Given the description of an element on the screen output the (x, y) to click on. 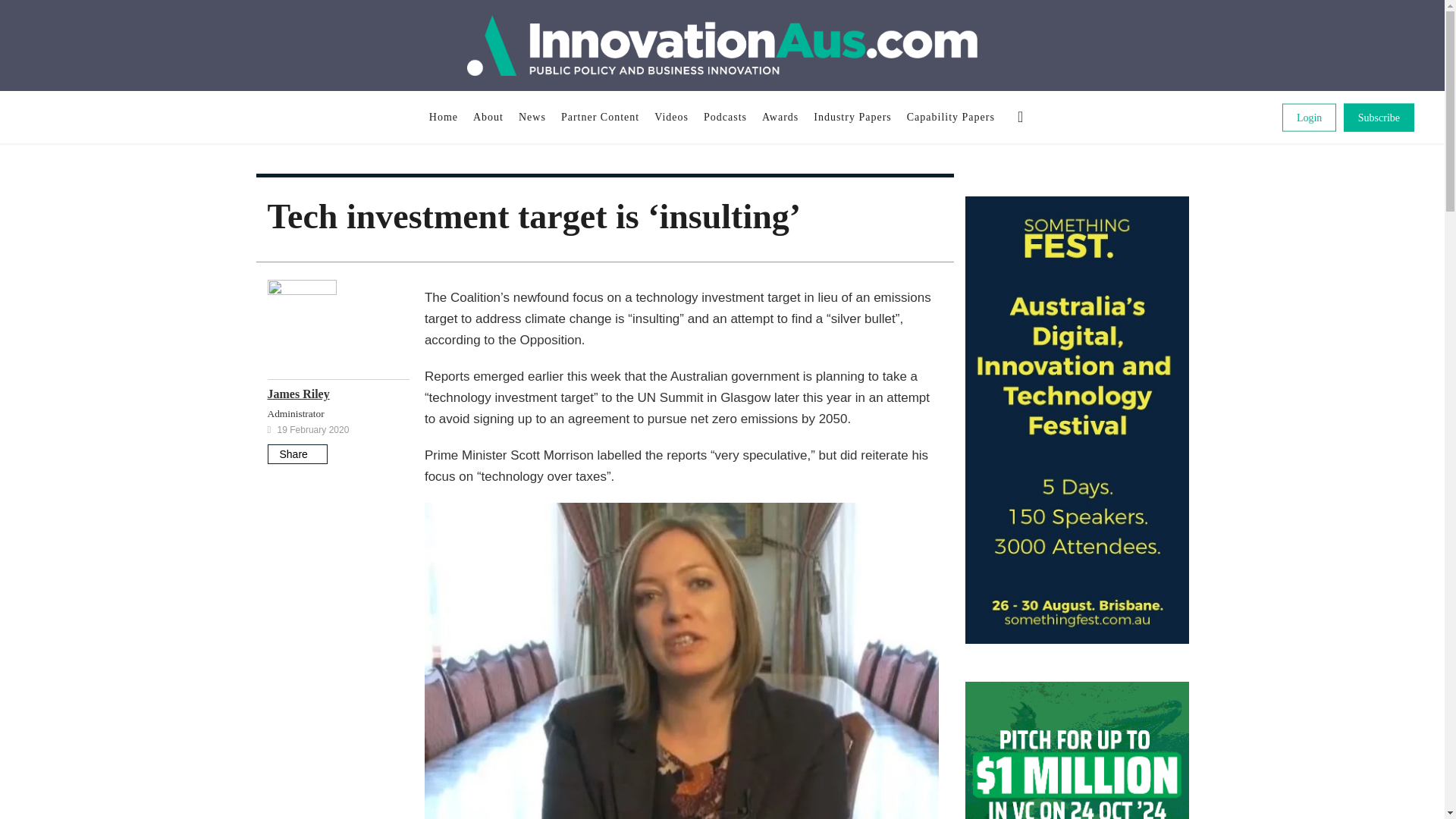
Share (296, 454)
Videos (670, 116)
Login (1309, 117)
Partner Content (599, 116)
Podcasts (724, 116)
Subscribe (1378, 117)
Capability Papers (951, 116)
Awards (780, 116)
Industry Papers (852, 116)
